Given the description of an element on the screen output the (x, y) to click on. 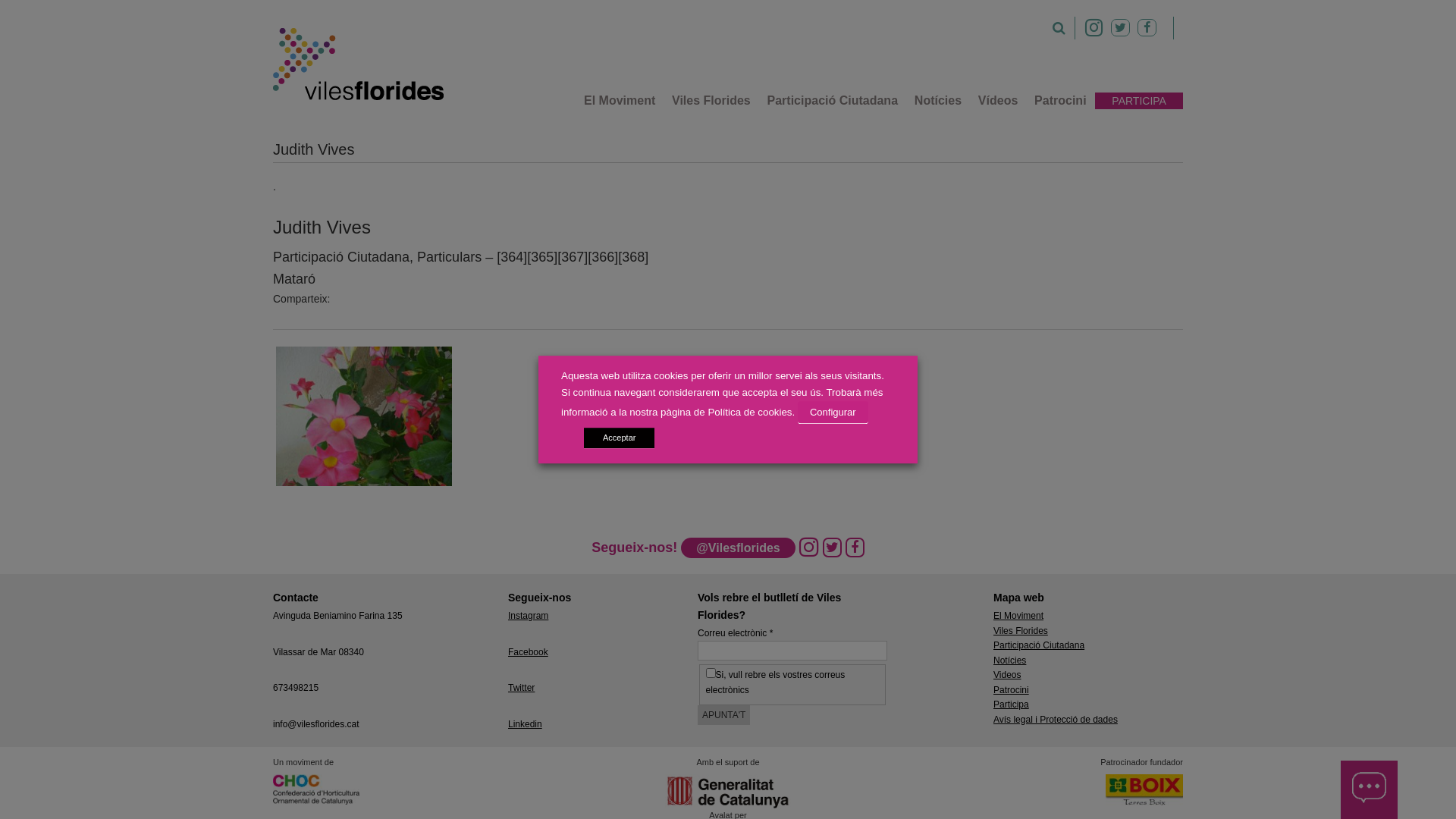
Patrocini Element type: text (1011, 689)
Twitter Element type: text (521, 687)
Videos Element type: text (1006, 674)
#vilesflorides Element type: text (360, 64)
Patrocini Element type: text (1059, 100)
Linkedin Element type: text (525, 723)
Viles Florides Element type: text (711, 100)
El Moviment Element type: text (619, 100)
Generalitat de catalunya Element type: hover (727, 791)
Skip to main content Element type: text (0, 121)
Acceptar Element type: text (618, 437)
Participa Element type: text (1011, 704)
Instagram Element type: text (528, 615)
Configurar Element type: text (832, 412)
PARTICIPA Element type: text (1138, 100)
El Moviment Element type: text (1018, 615)
Apunta't Element type: text (723, 714)
Facebook Element type: text (528, 651)
Viles Florides Element type: text (1020, 630)
CHOC Element type: hover (316, 789)
Terres Boix Element type: hover (1144, 791)
